Given the description of an element on the screen output the (x, y) to click on. 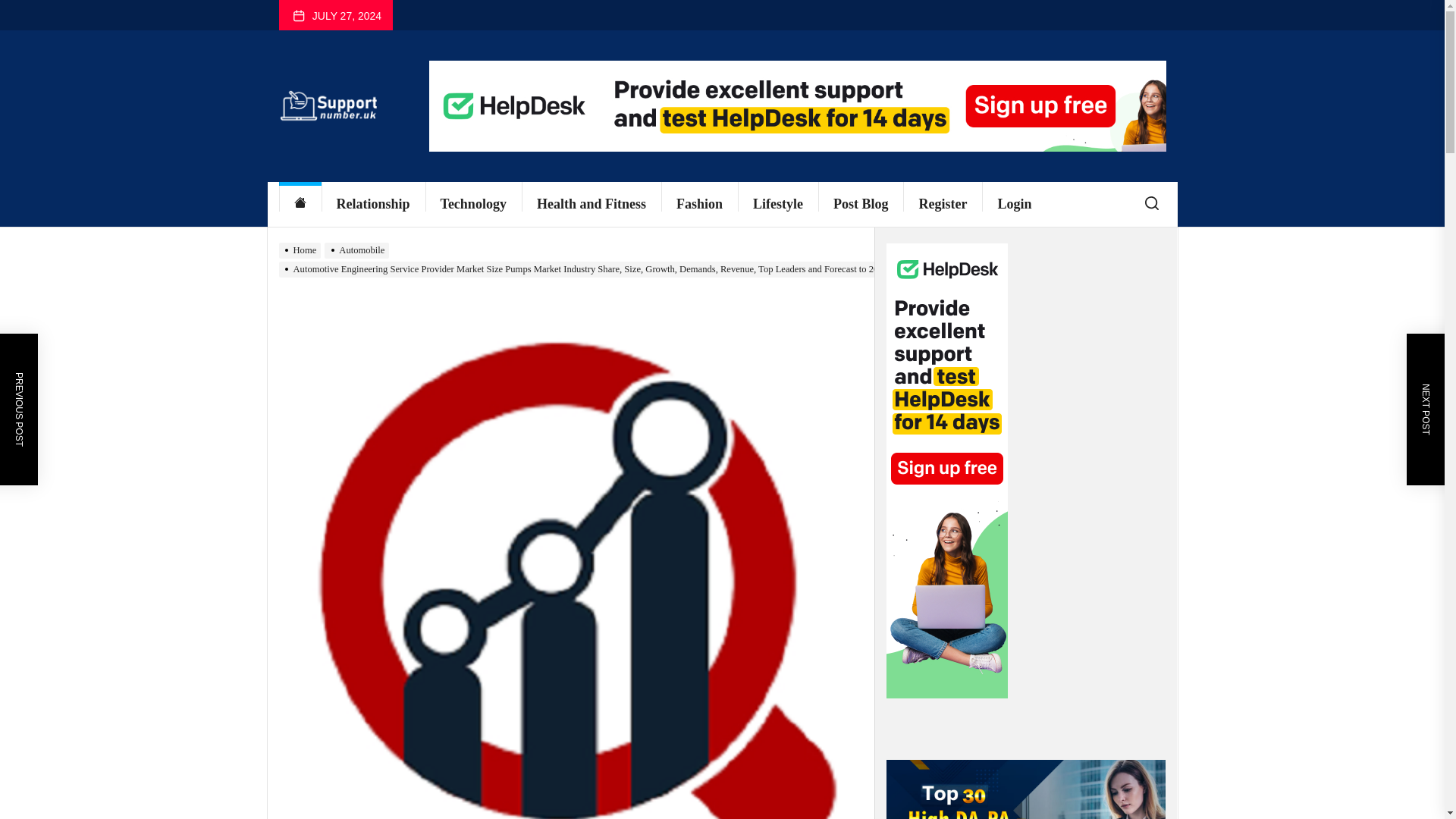
Header AD Image (797, 105)
Health and Fitness (591, 203)
Post Blog (861, 203)
Register (941, 203)
Relationship (373, 203)
Login (1013, 203)
Technology (473, 203)
Home (300, 203)
Fashion (699, 203)
Lifestyle (778, 203)
